Given the description of an element on the screen output the (x, y) to click on. 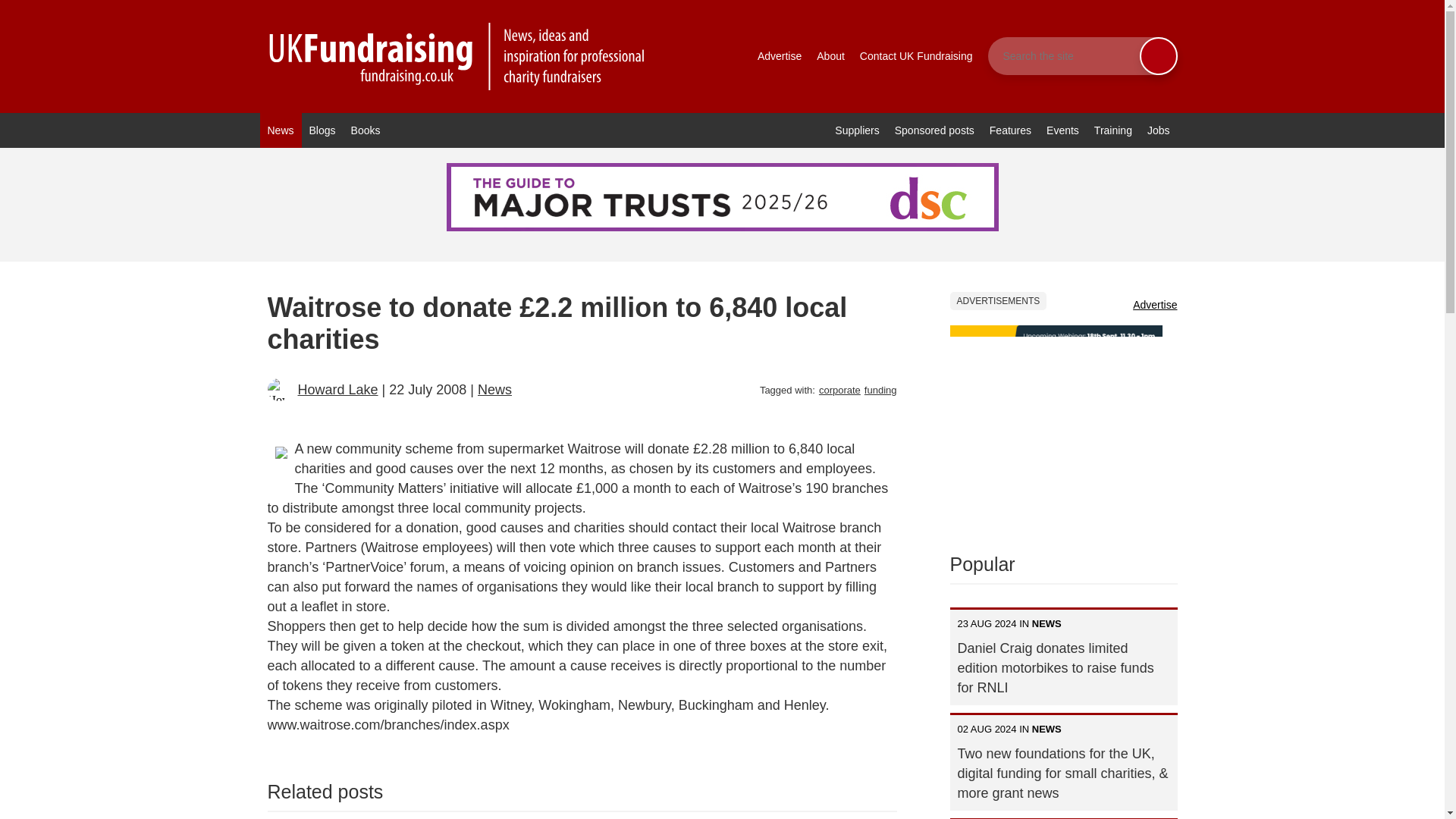
Suppliers (856, 130)
Blogs (322, 130)
Sponsored posts (933, 130)
Events (1062, 130)
funding (880, 389)
Howard Lake (337, 389)
Advertise (1154, 304)
Contact UK Fundraising (915, 55)
Features (1010, 130)
Training (1113, 130)
